Given the description of an element on the screen output the (x, y) to click on. 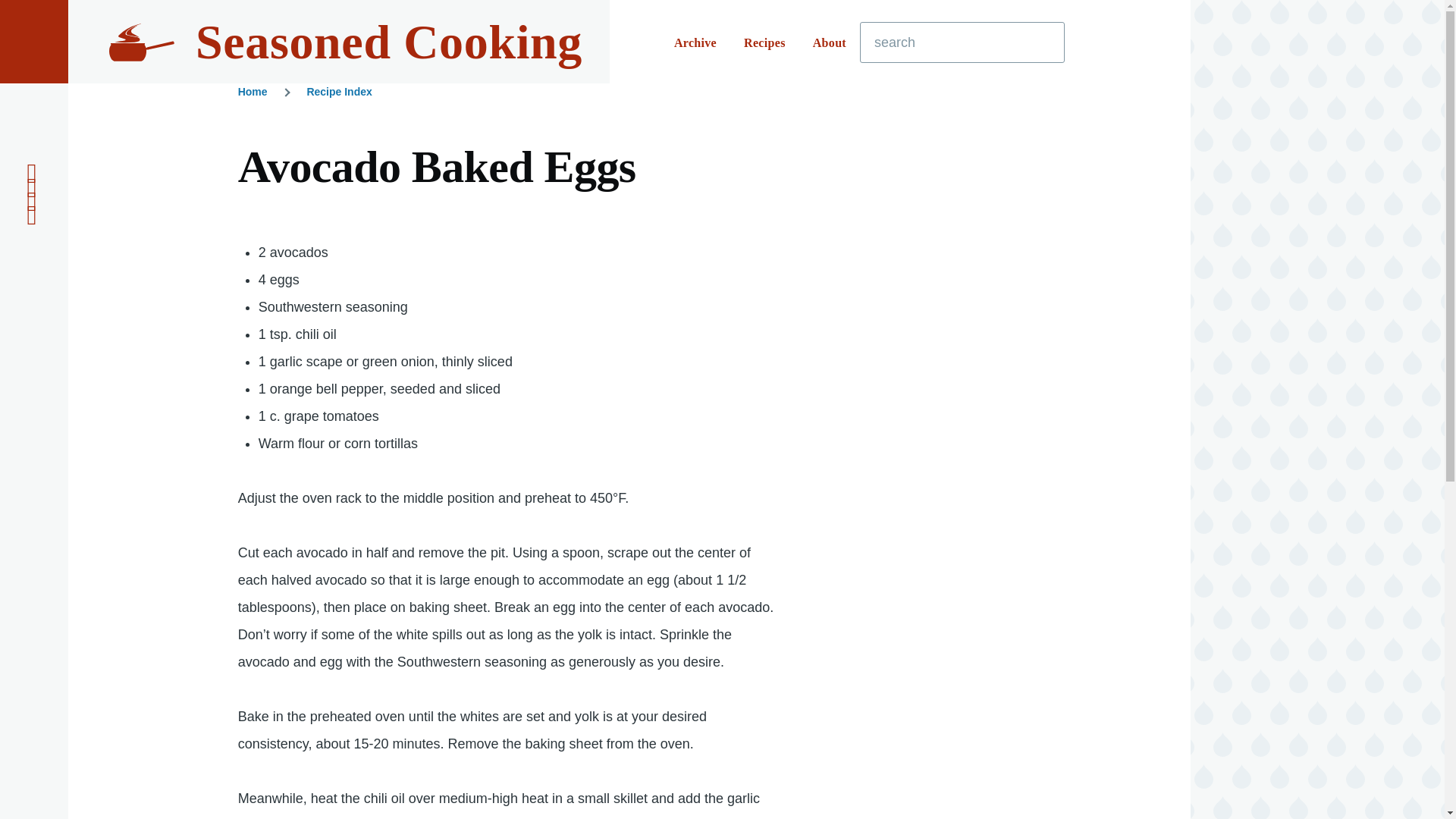
Home (388, 41)
Seasoned Cooking (388, 41)
Home (252, 91)
Skip to main content (595, 6)
Advertisement (970, 720)
Recipe Index (338, 91)
